Given the description of an element on the screen output the (x, y) to click on. 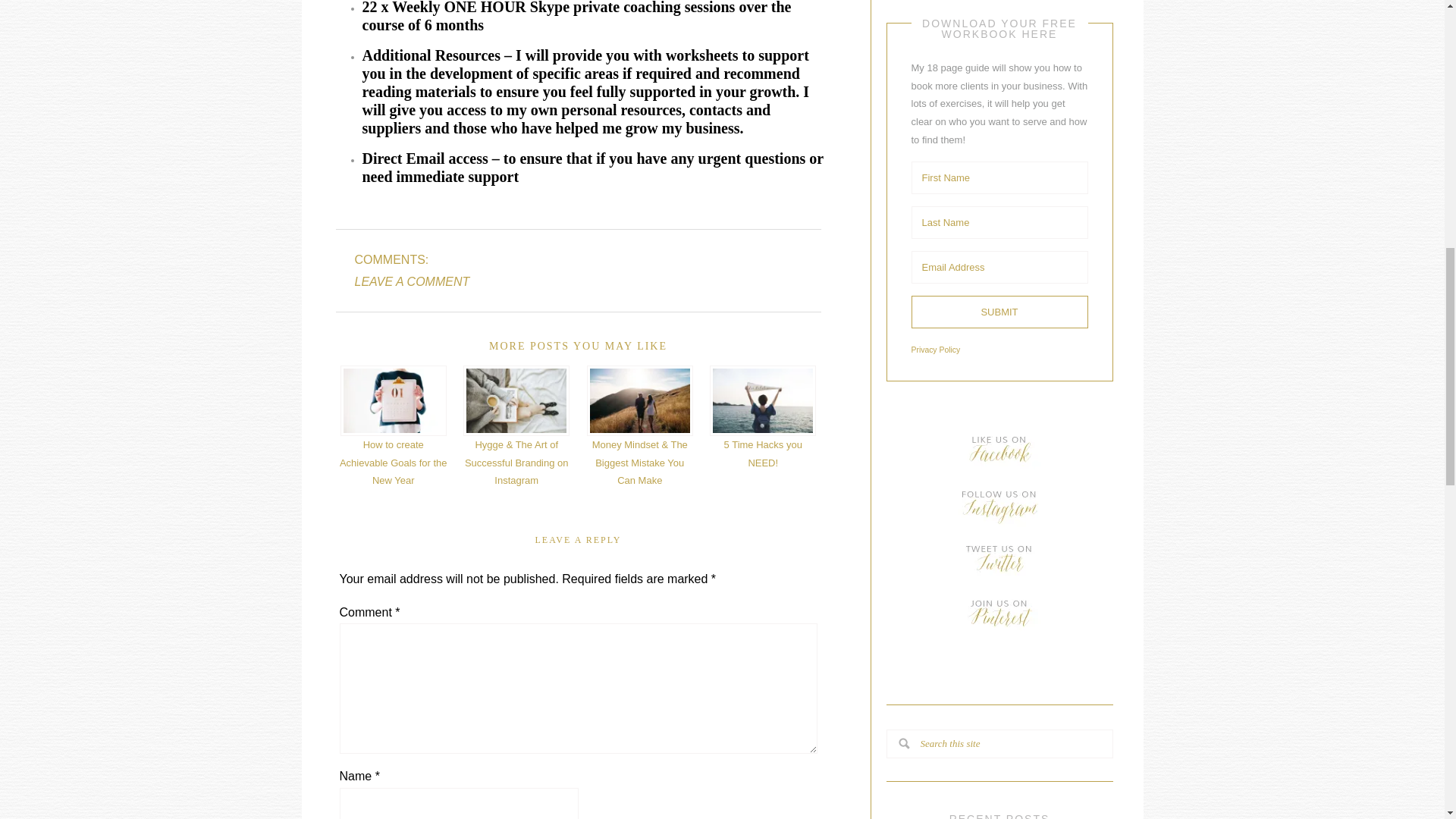
Privacy Policy (935, 349)
How to create Achievable Goals for the New Year (393, 425)
LEAVE A COMMENT (412, 281)
SUBMIT (999, 311)
5 Time Hacks you NEED! (762, 416)
Permanent Link to5 Time Hacks you NEED! (762, 416)
SUBMIT (999, 311)
